Given the description of an element on the screen output the (x, y) to click on. 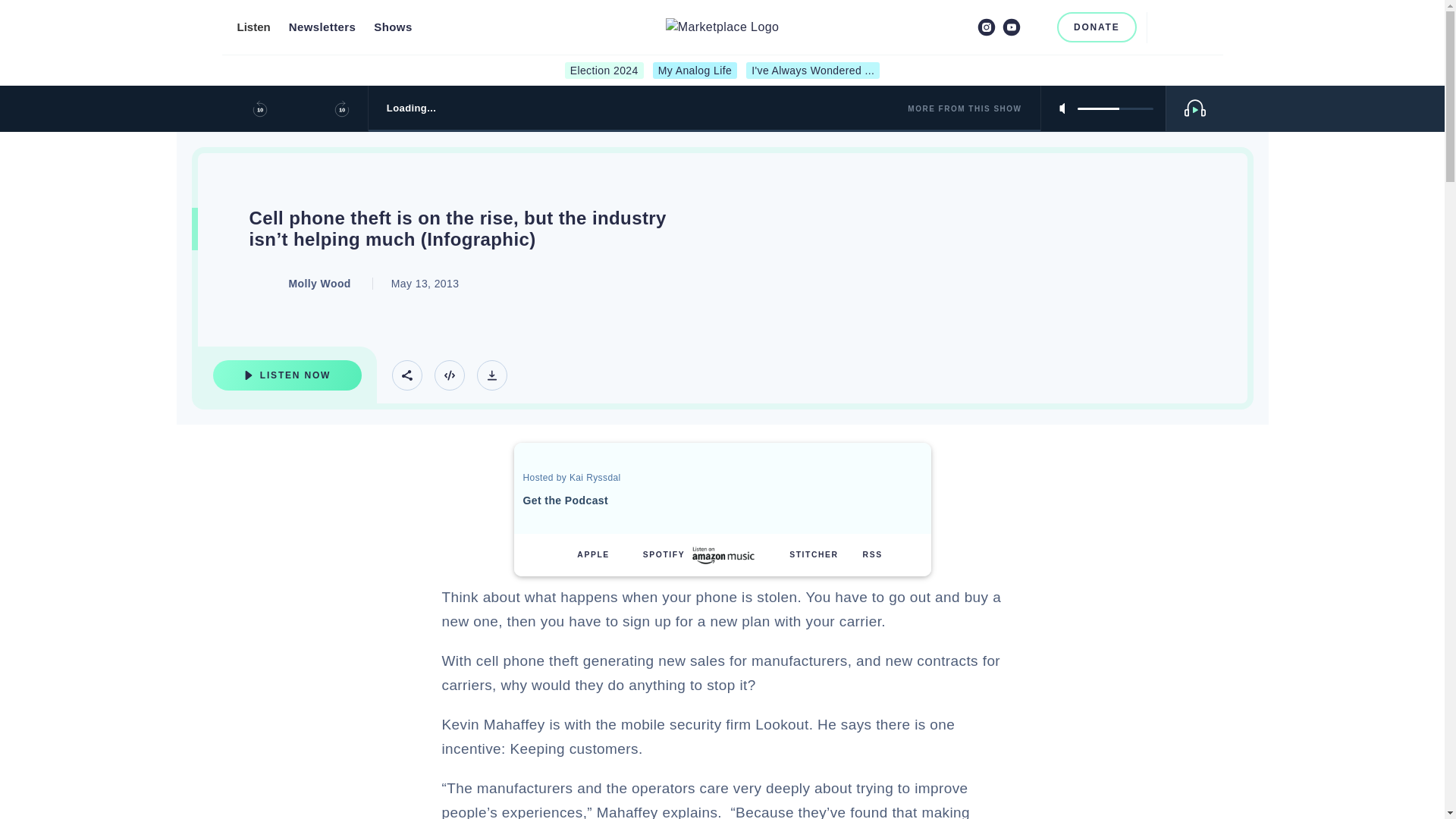
Skip 10 Seconds (341, 108)
Menu (1198, 27)
volume (1115, 108)
Instagram (985, 27)
Newsletters (322, 27)
Playback 10 Seconds (259, 108)
DONATE (1097, 27)
Facebook (962, 27)
5 (1115, 108)
TikTok (1035, 27)
Youtube (1011, 27)
Shows (393, 26)
Listen (252, 26)
Download Track (491, 374)
Listen Now (286, 374)
